Given the description of an element on the screen output the (x, y) to click on. 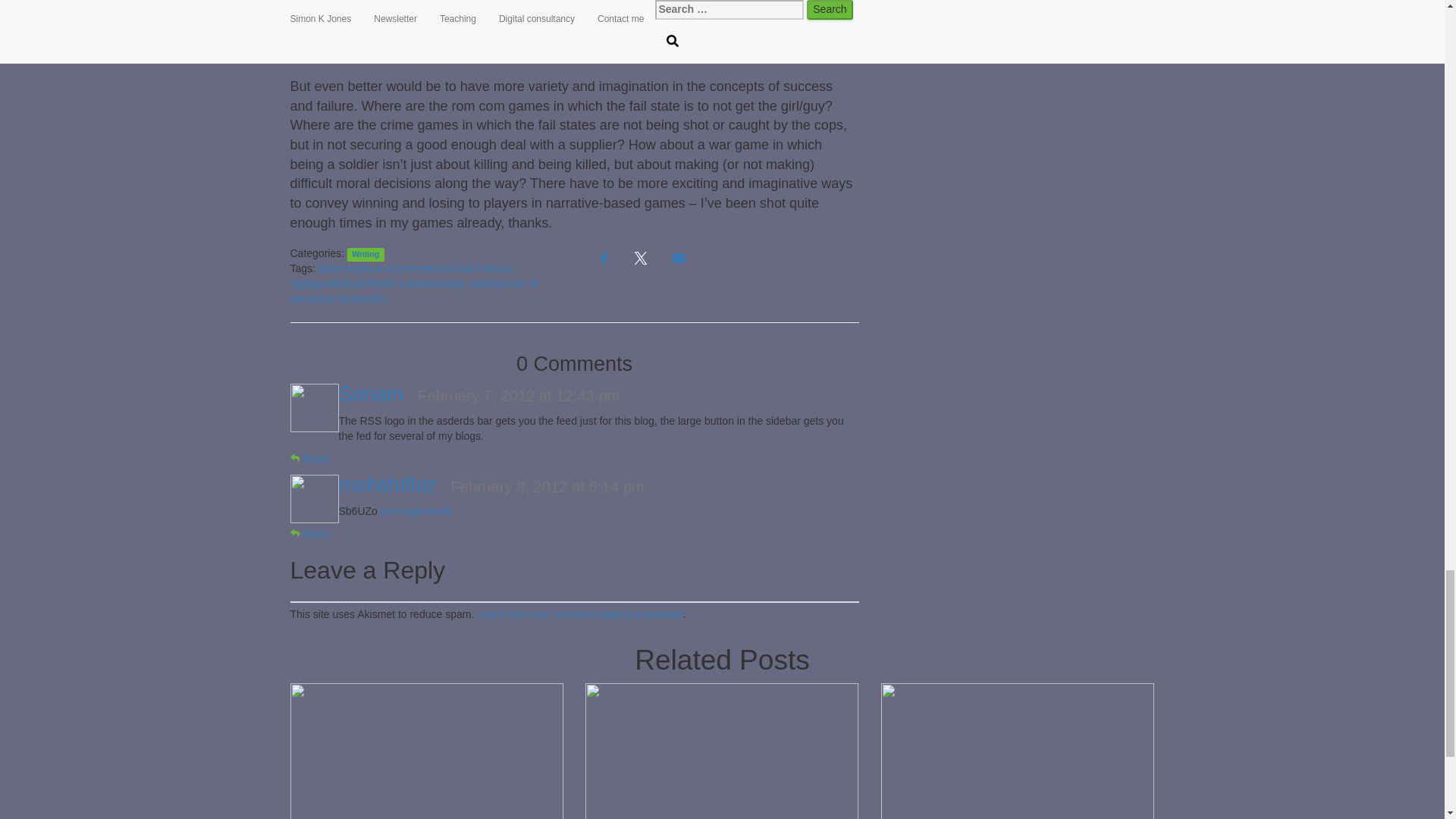
half life (362, 283)
emergence (423, 268)
Learn how your comment data is processed (579, 613)
left 4 dead (404, 283)
guerilla (328, 283)
Sonam (370, 394)
gvnmagbeavak (416, 510)
Reply (309, 458)
gta (304, 283)
monkey island (463, 283)
red faction (343, 298)
Reply (309, 533)
Final Fantasy X (401, 275)
Download character templates (1017, 773)
